Given the description of an element on the screen output the (x, y) to click on. 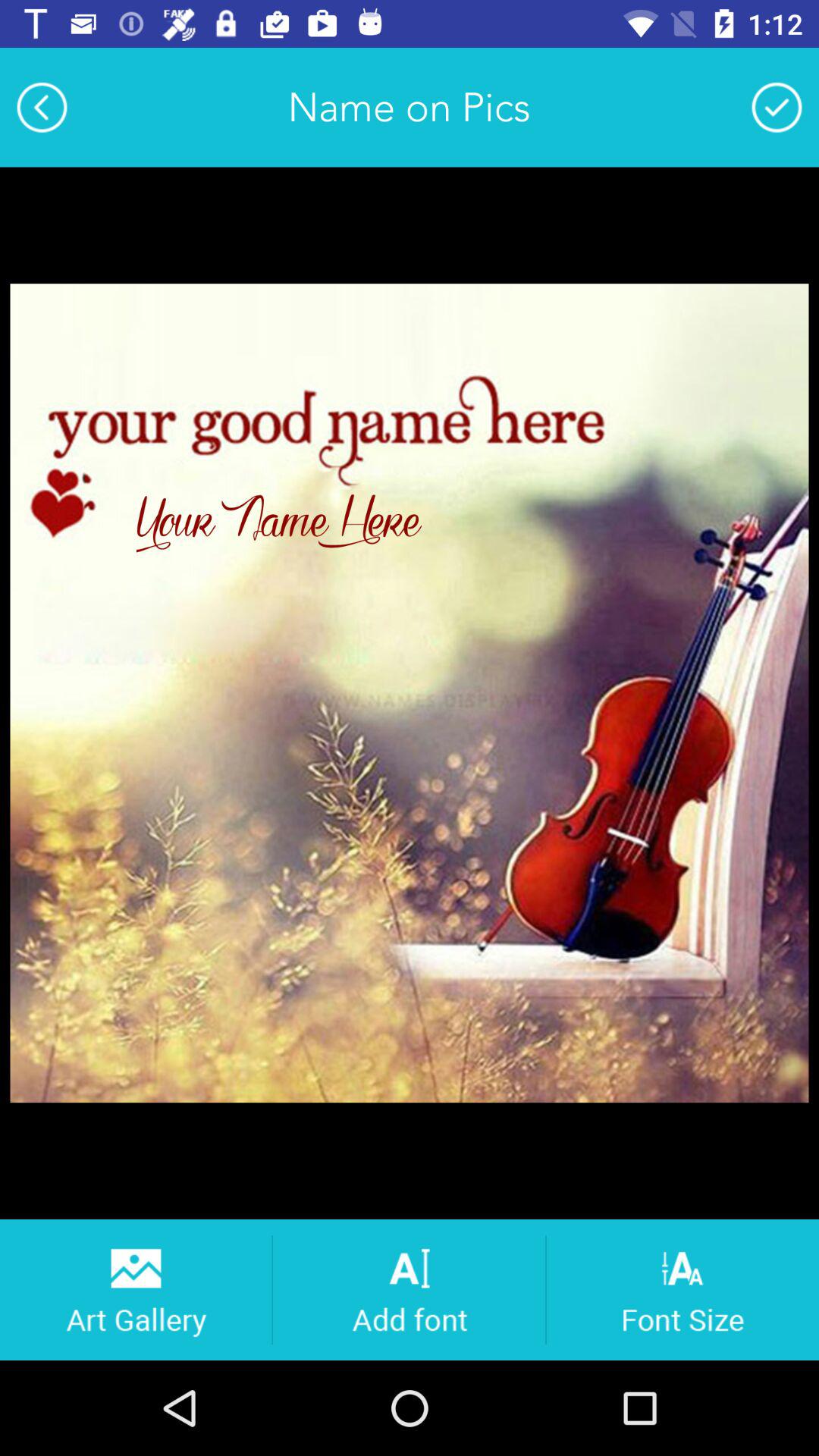
go back (41, 107)
